Given the description of an element on the screen output the (x, y) to click on. 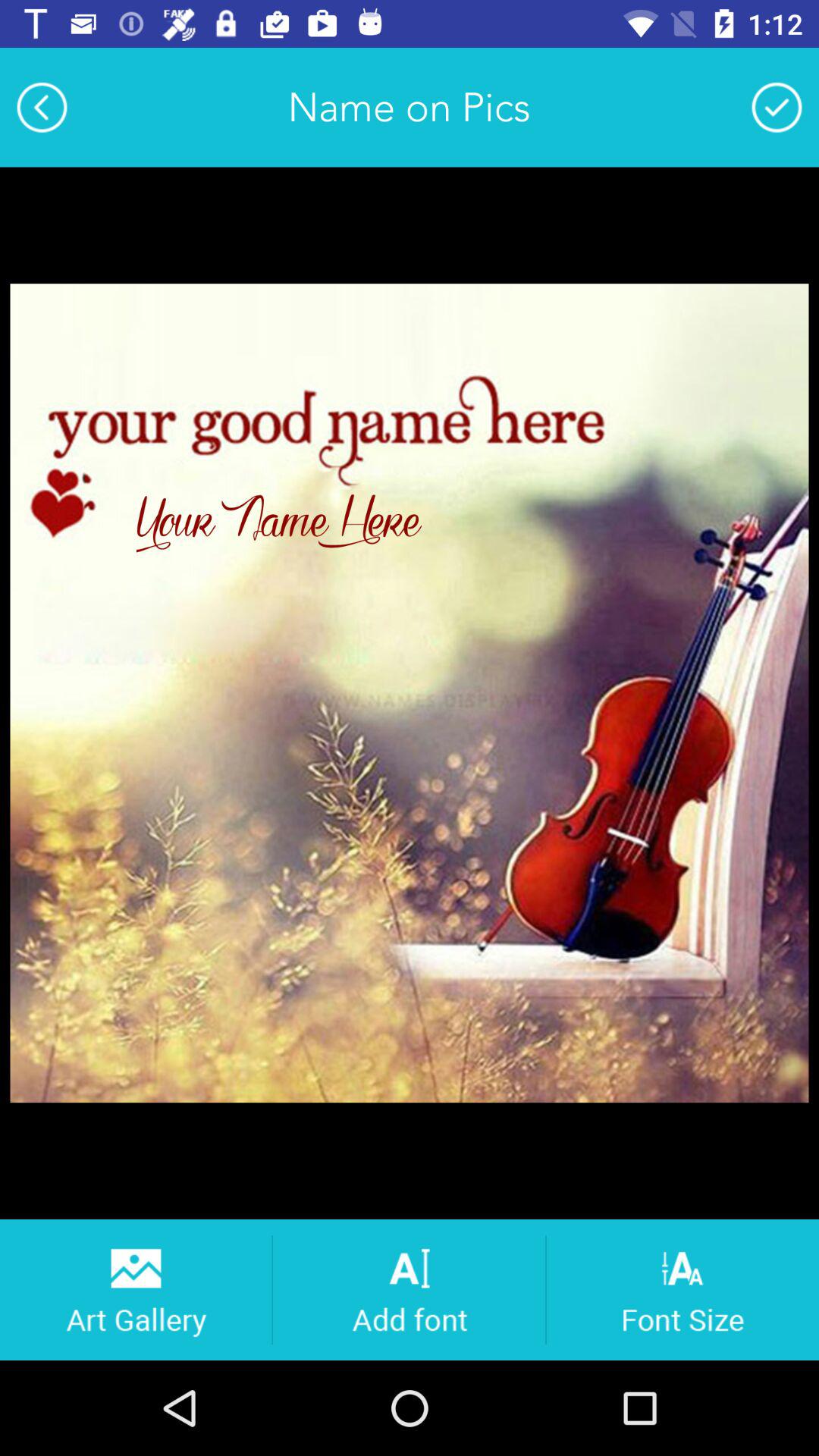
go back (41, 107)
